Given the description of an element on the screen output the (x, y) to click on. 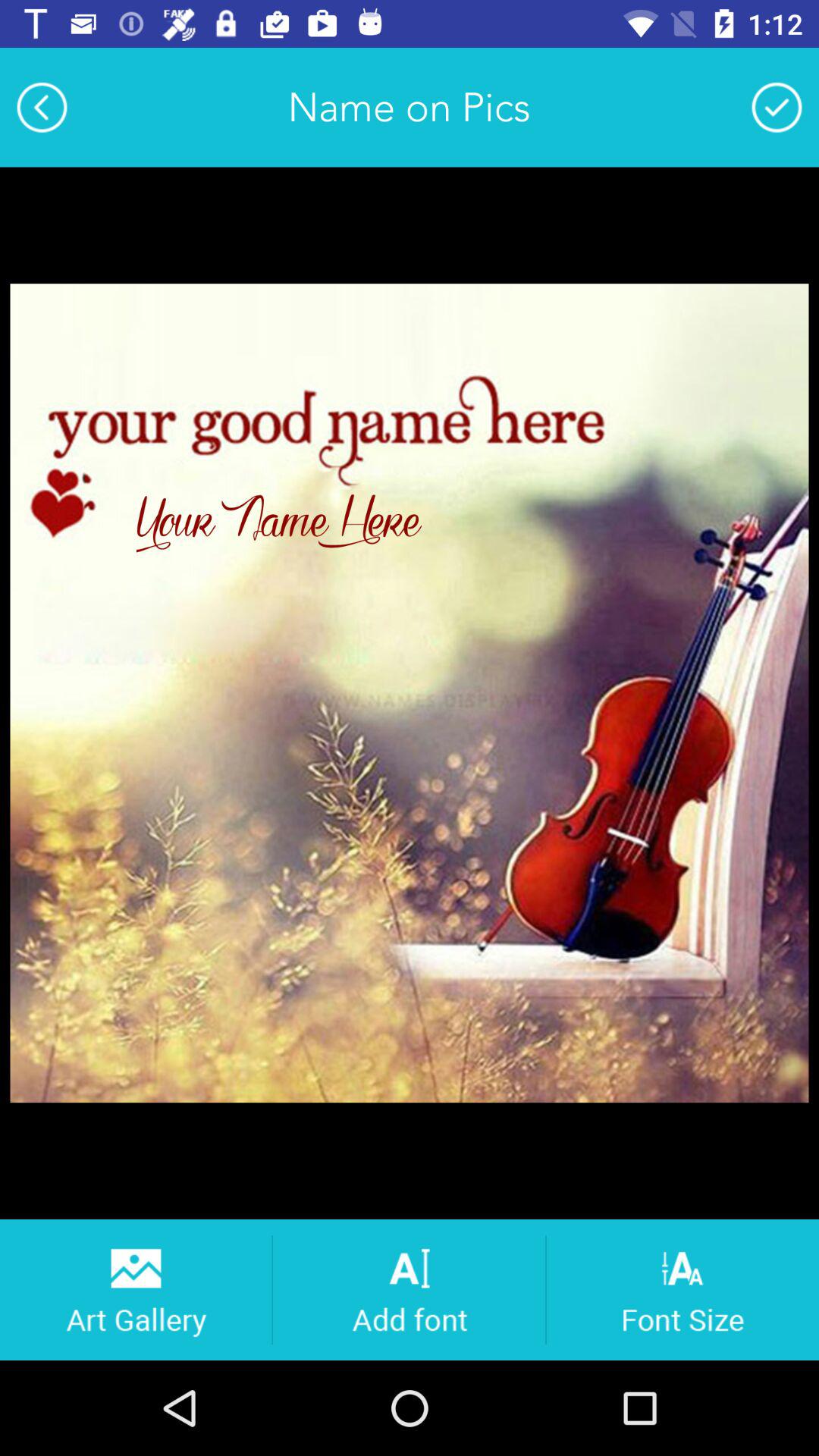
go back (41, 107)
